Given the description of an element on the screen output the (x, y) to click on. 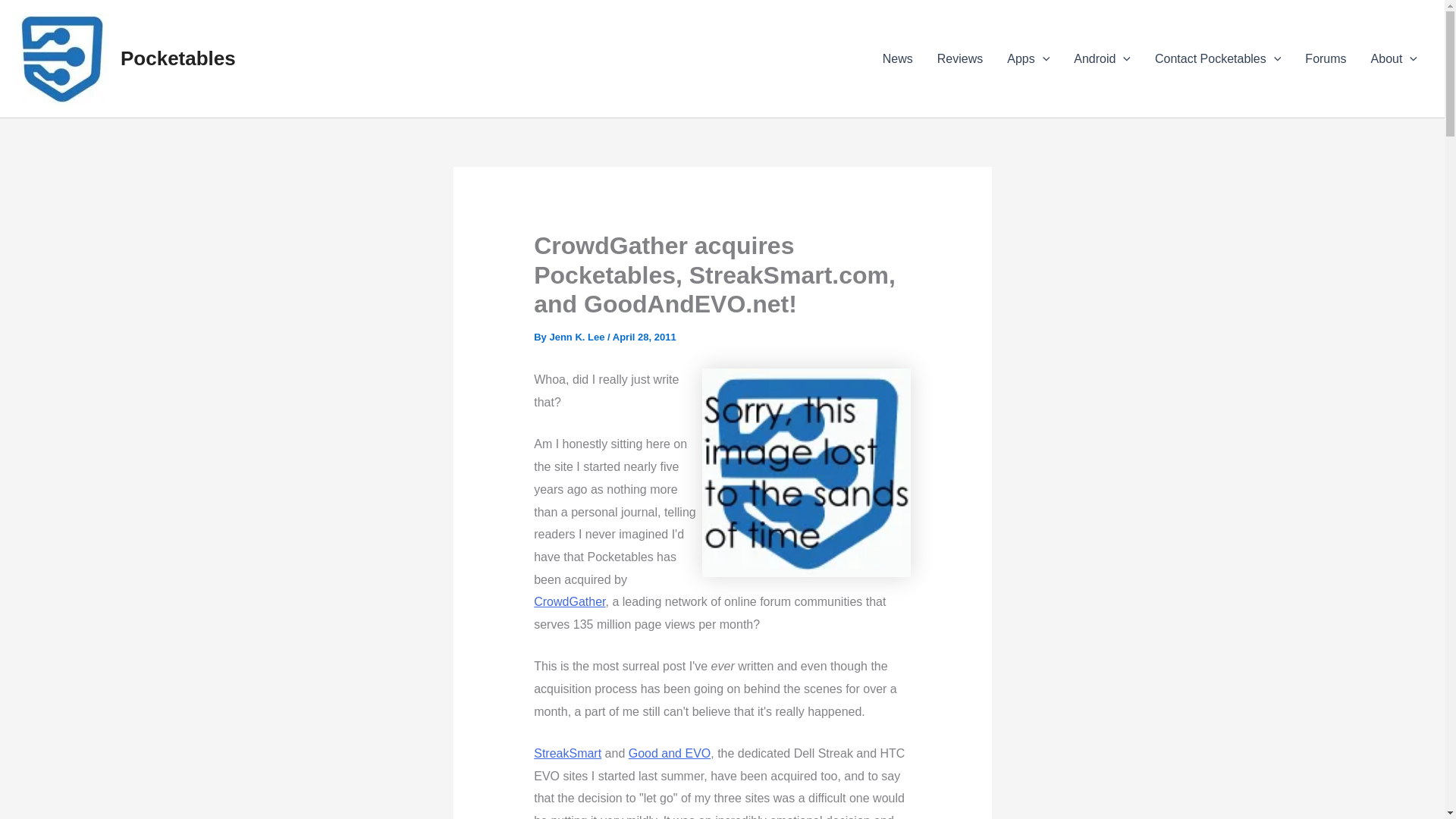
View all posts by Jenn K. Lee (576, 337)
About (1393, 58)
Android (1101, 58)
Contact Pocketables (1217, 58)
Forums (1325, 58)
Reviews (959, 58)
Pocketables (177, 57)
Apps (1027, 58)
News (897, 58)
